Given the description of an element on the screen output the (x, y) to click on. 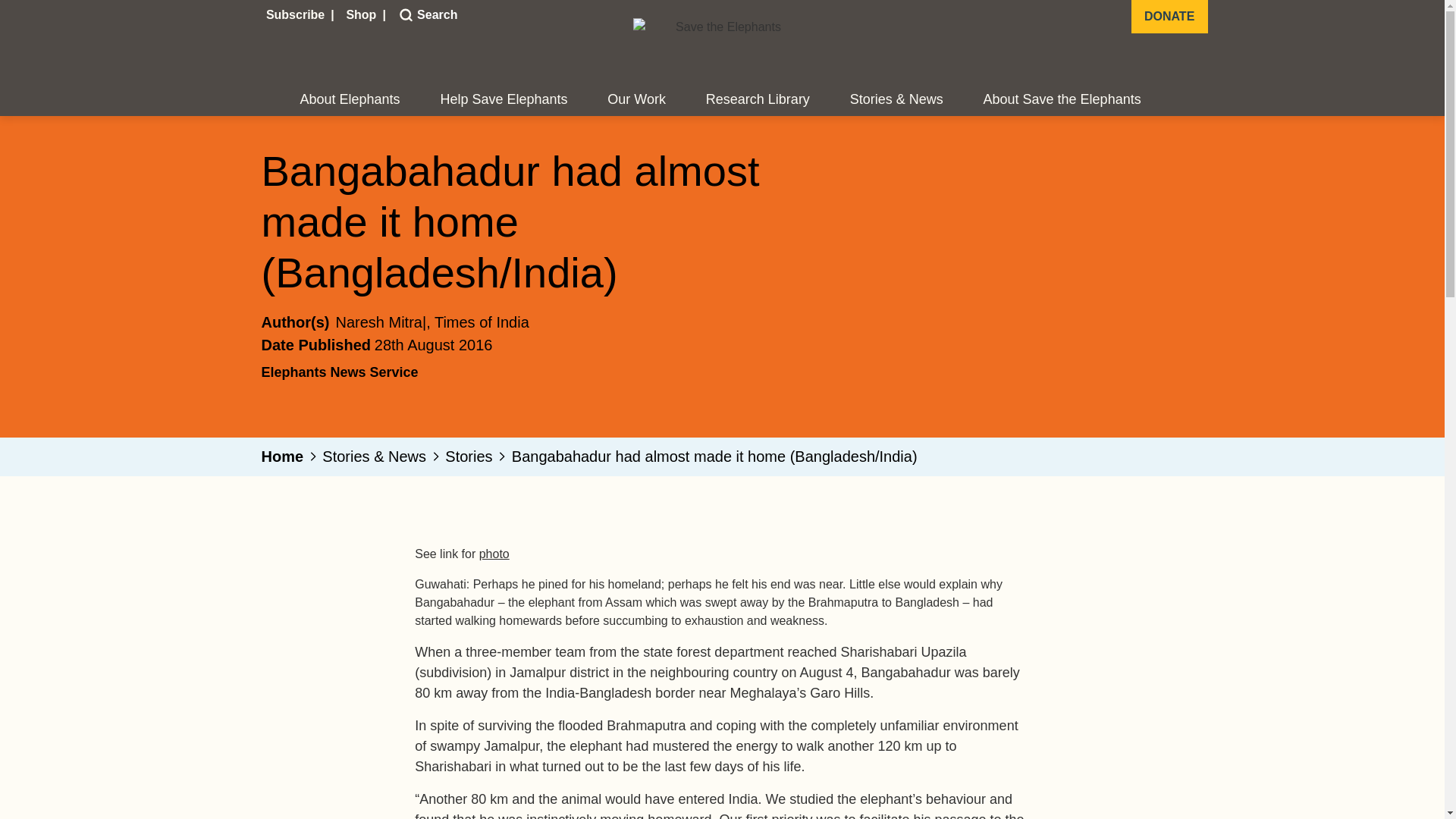
Our Work (636, 99)
About Elephants (349, 99)
Subscribe (297, 15)
Research Library (757, 99)
Search submit (403, 15)
Shop (362, 15)
Help Save Elephants (503, 99)
About Save the Elephants (1062, 99)
DONATE (1169, 16)
Save the Elephants (720, 47)
